Given the description of an element on the screen output the (x, y) to click on. 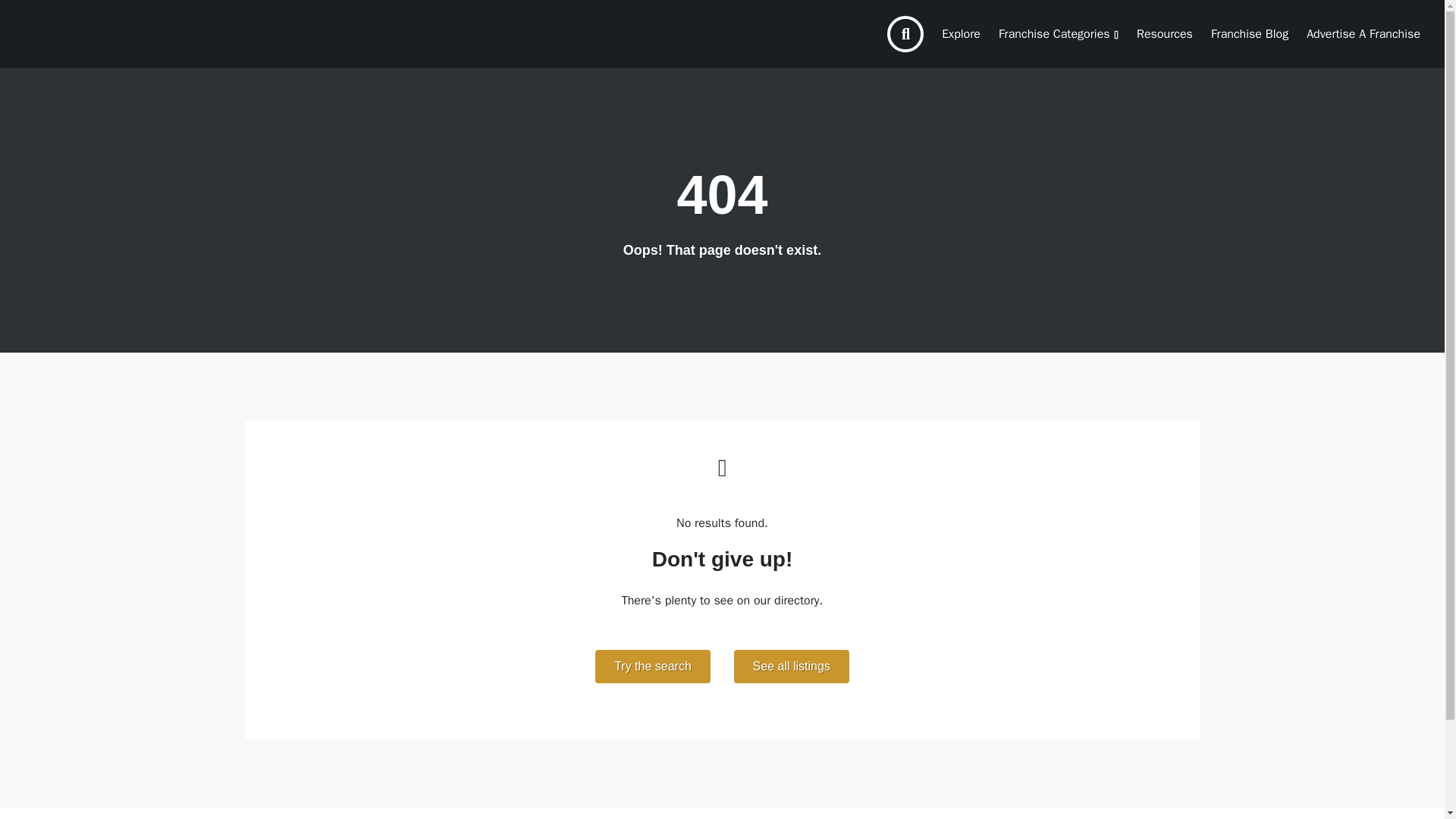
See all listings (790, 666)
Try the search (652, 666)
Advertise A Franchise (1363, 33)
Franchise Categories (1058, 33)
Explore (961, 33)
Franchise Blog (1249, 33)
Resources (1164, 33)
